Given the description of an element on the screen output the (x, y) to click on. 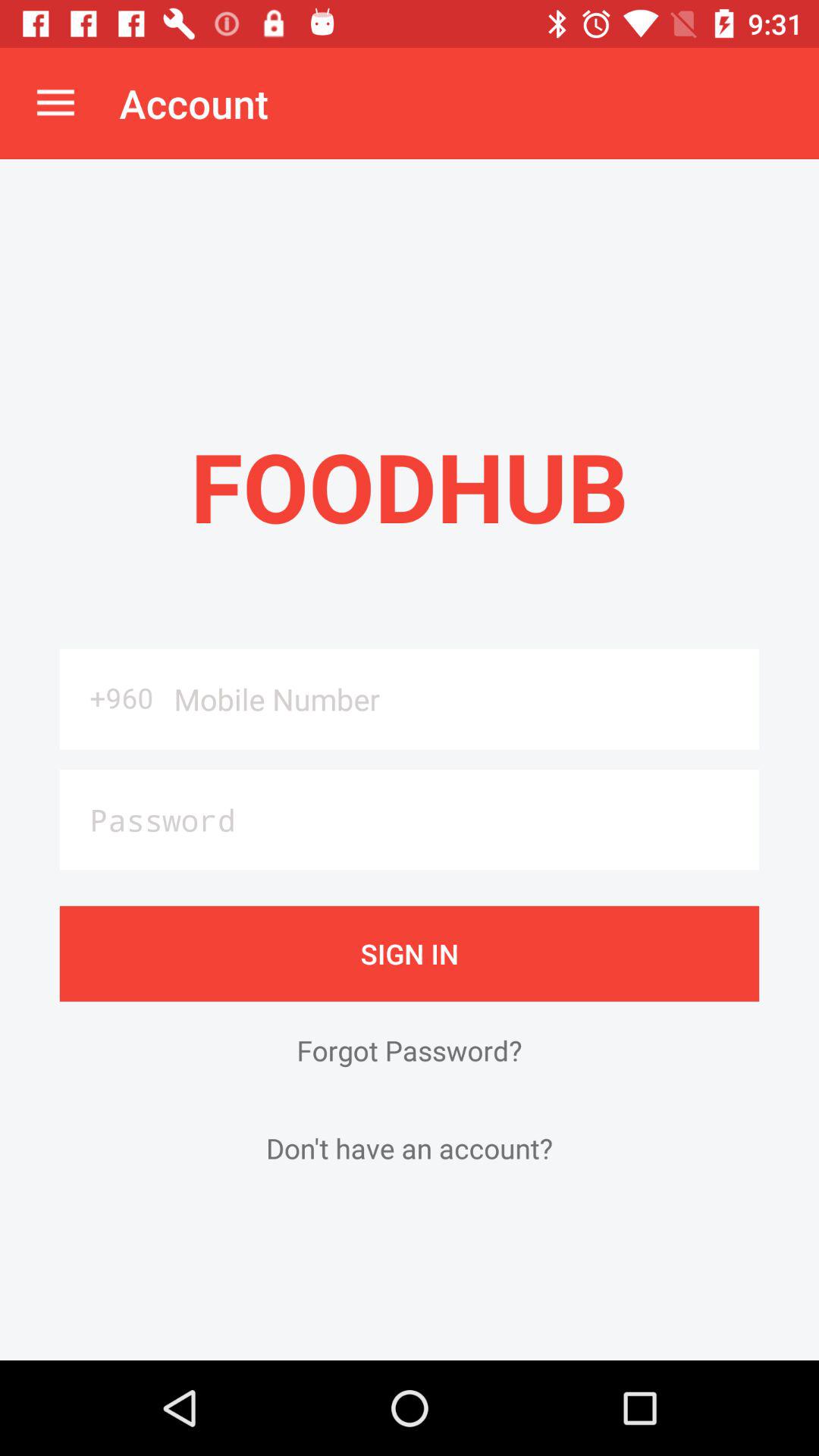
open the icon next to the account app (55, 103)
